Given the description of an element on the screen output the (x, y) to click on. 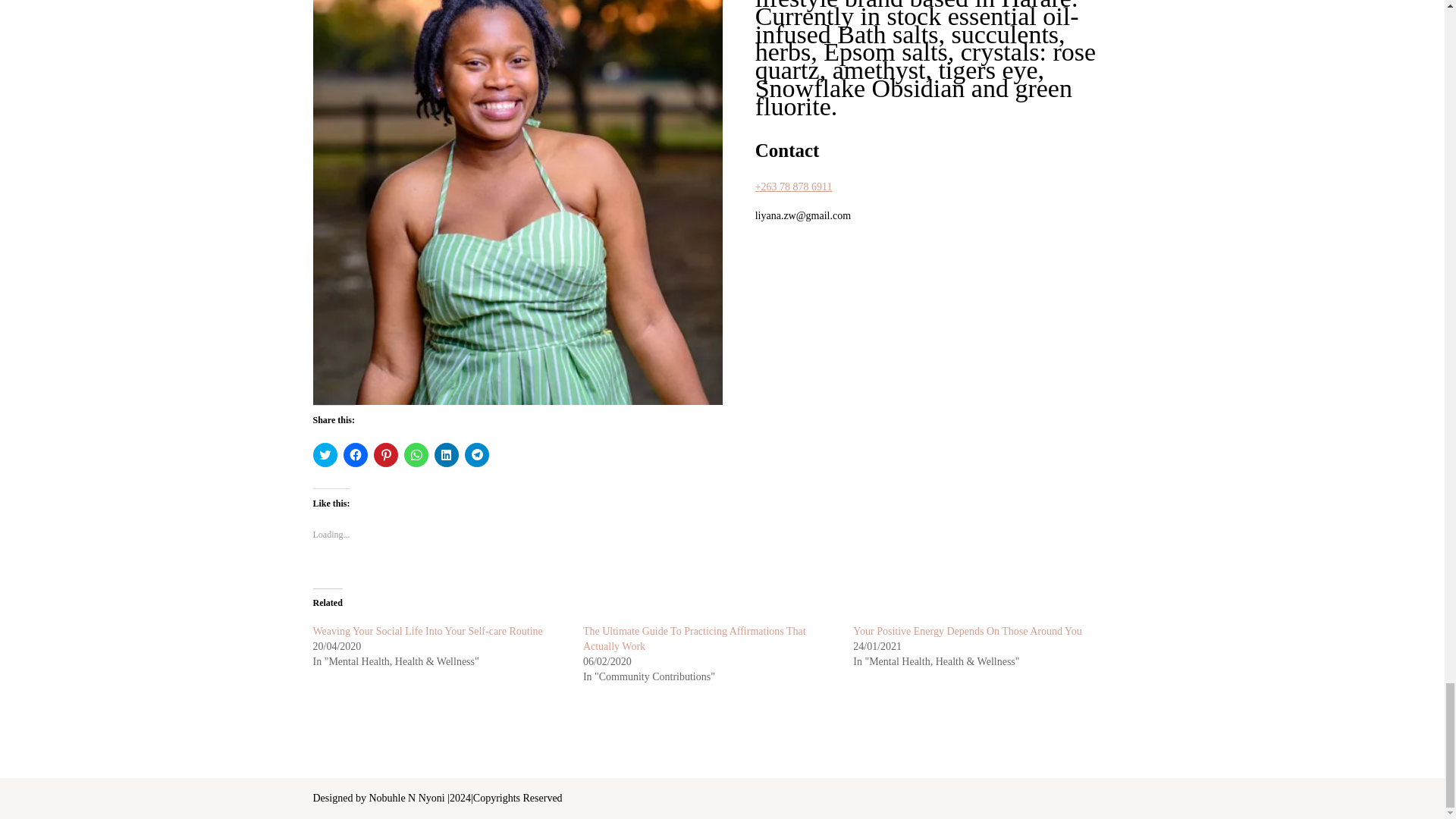
Weaving Your Social Life Into Your Self-care Routine (427, 631)
Click to share on Pinterest (384, 454)
Click to share on LinkedIn (445, 454)
Click to share on Facebook (354, 454)
Click to share on WhatsApp (415, 454)
Click to share on Telegram (475, 454)
Weaving Your Social Life Into Your Self-care Routine (427, 631)
Click to share on Twitter (324, 454)
Your Positive Energy Depends On Those Around You (967, 631)
Your Positive Energy Depends On Those Around You (967, 631)
